Given the description of an element on the screen output the (x, y) to click on. 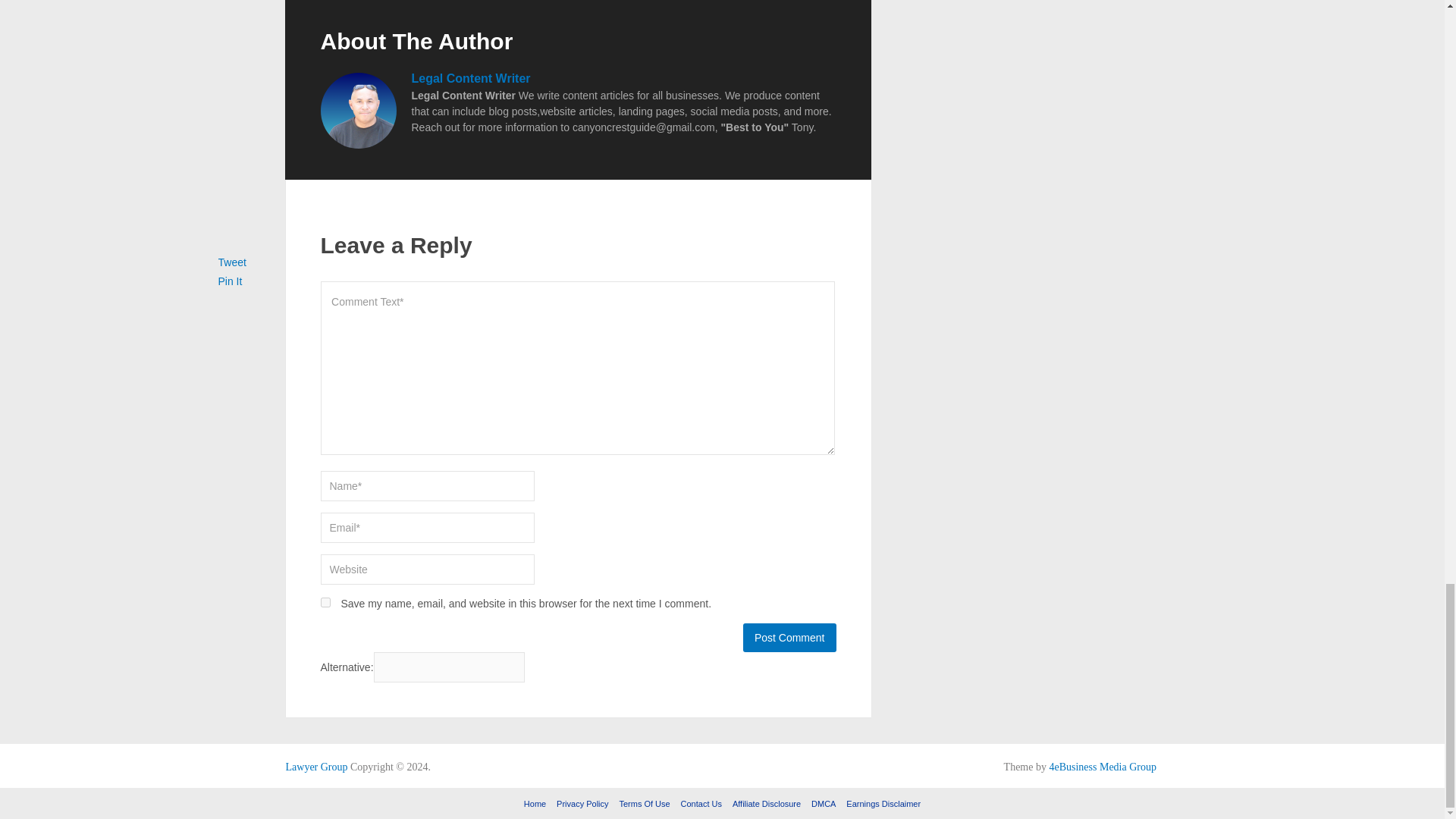
 Lawyer Group Blog (316, 767)
Post Comment (788, 637)
yes (325, 602)
